Given the description of an element on the screen output the (x, y) to click on. 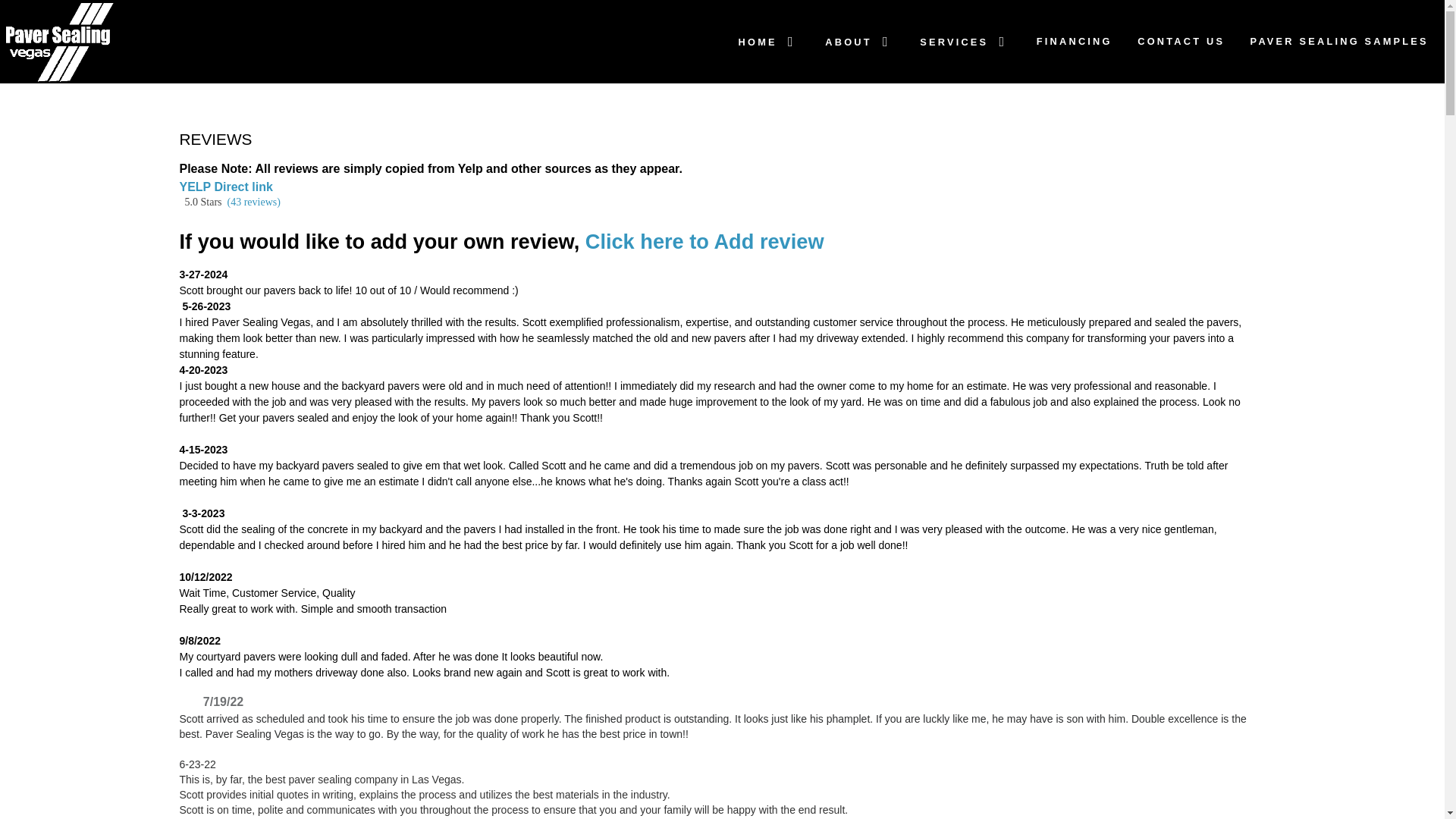
clarity (361, 41)
HOME (769, 41)
FINANCING (1073, 40)
Click here to Add review (701, 241)
CONTACT US (1181, 40)
PAVER SEALING SAMPLES (1339, 40)
YELP Direct link (225, 186)
SERVICES (965, 41)
